Given the description of an element on the screen output the (x, y) to click on. 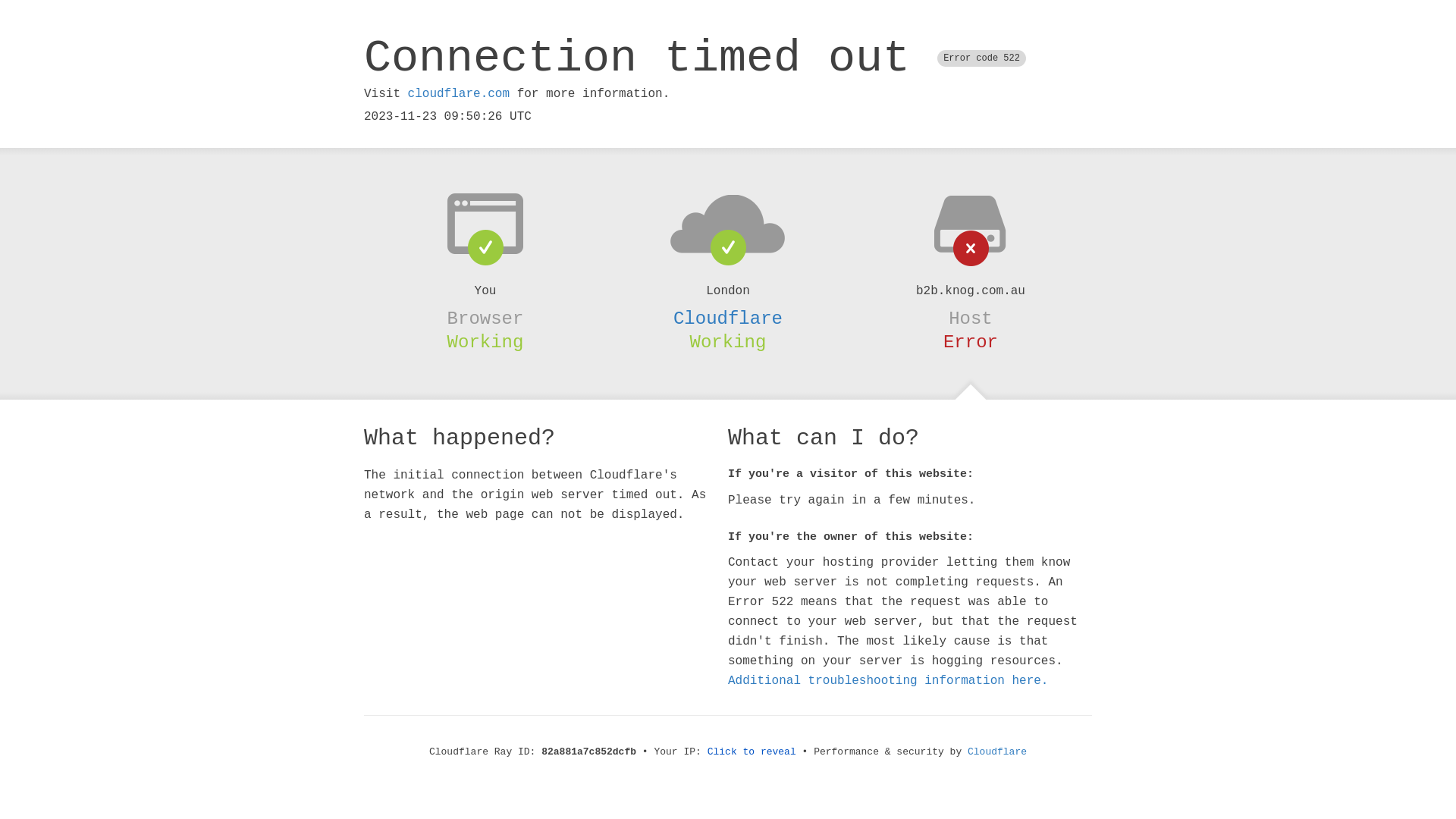
Additional troubleshooting information here. Element type: text (888, 680)
Cloudflare Element type: text (727, 318)
cloudflare.com Element type: text (458, 93)
Click to reveal Element type: text (751, 751)
Cloudflare Element type: text (996, 751)
